Given the description of an element on the screen output the (x, y) to click on. 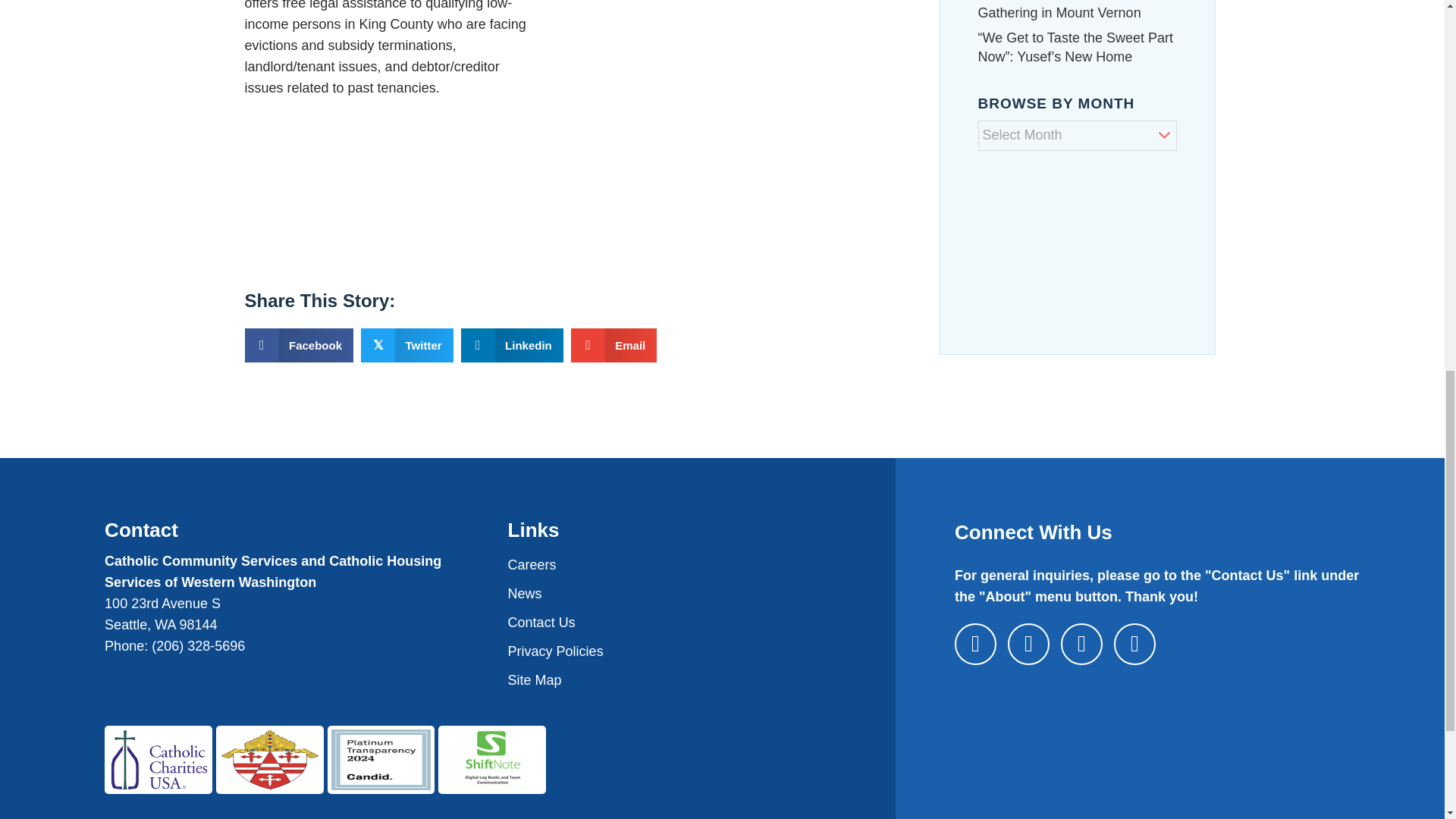
Email (614, 345)
Linkedin (512, 345)
Facebook (298, 345)
